Given the description of an element on the screen output the (x, y) to click on. 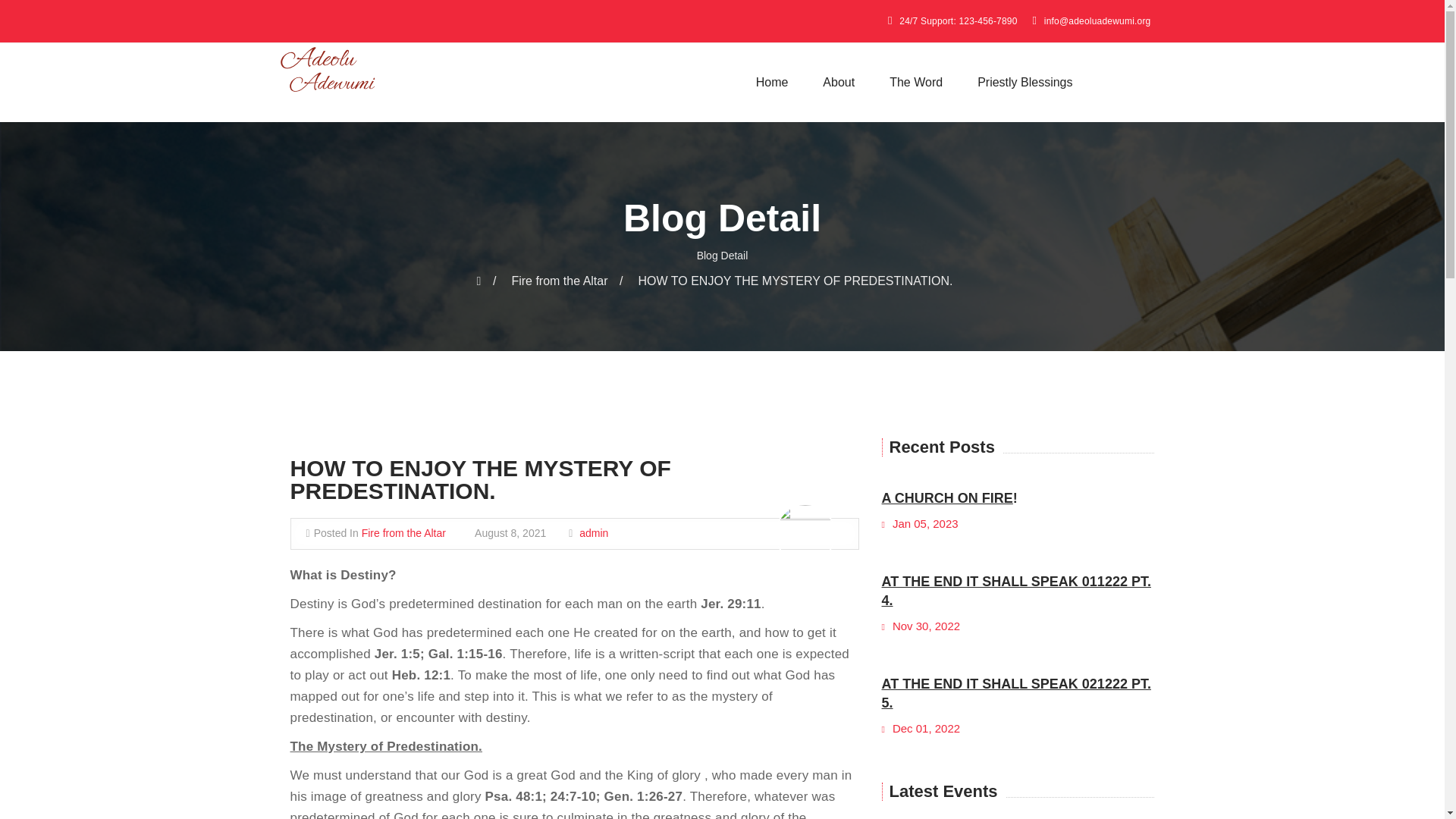
Adeolu Adewumi blog (326, 71)
Fire from the Altar (403, 533)
AT THE END IT SHALL SPEAK 021222 PT. 5. (1015, 693)
Priestly Blessings (1024, 82)
Fire from the Altar (567, 281)
AT THE END IT SHALL SPEAK 011222 PT. 4. (1015, 591)
The Word (916, 82)
admin (593, 533)
A CHURCH ON FIRE! (948, 498)
